Given the description of an element on the screen output the (x, y) to click on. 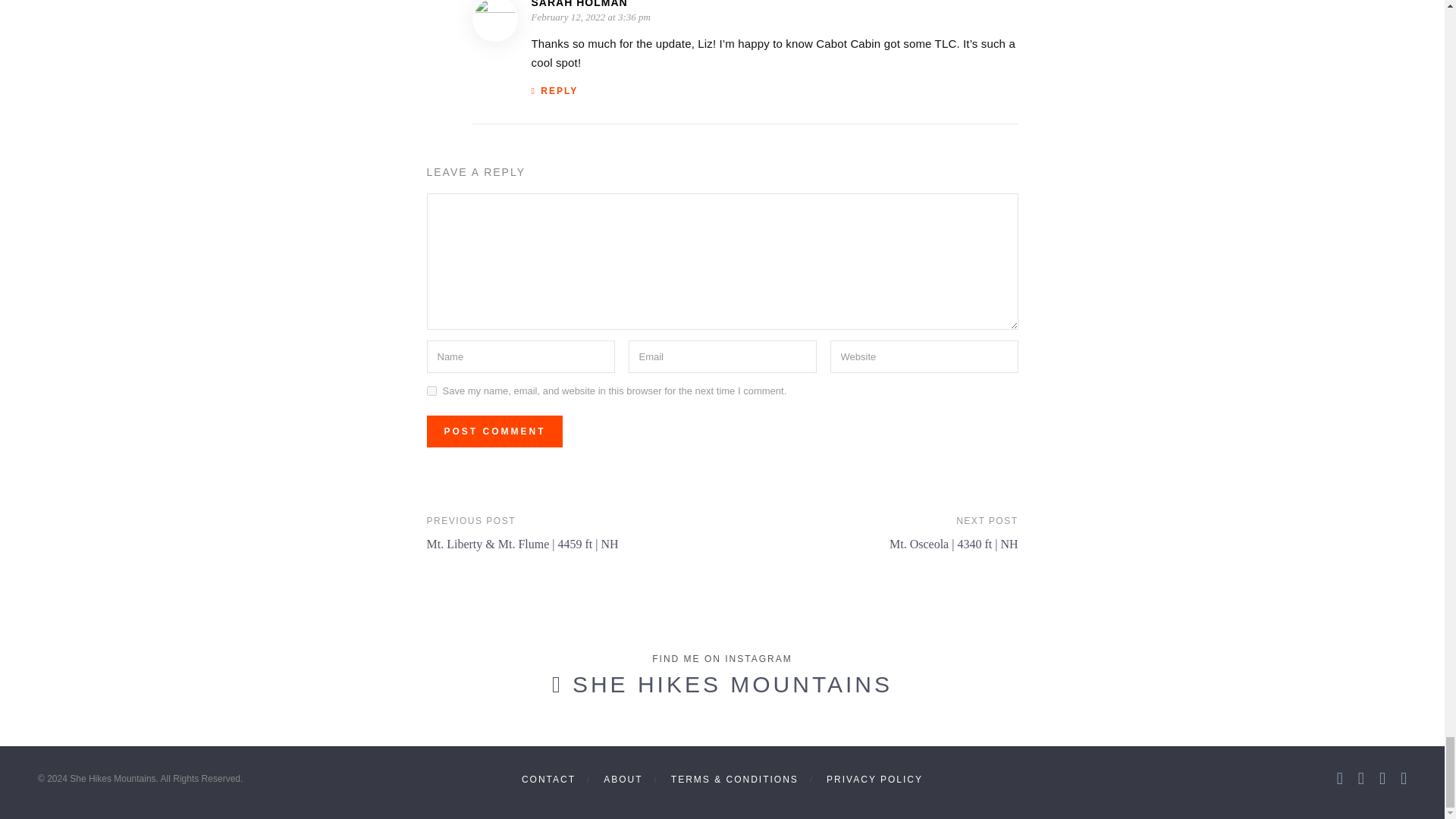
yes (430, 390)
Post Comment (494, 431)
